Given the description of an element on the screen output the (x, y) to click on. 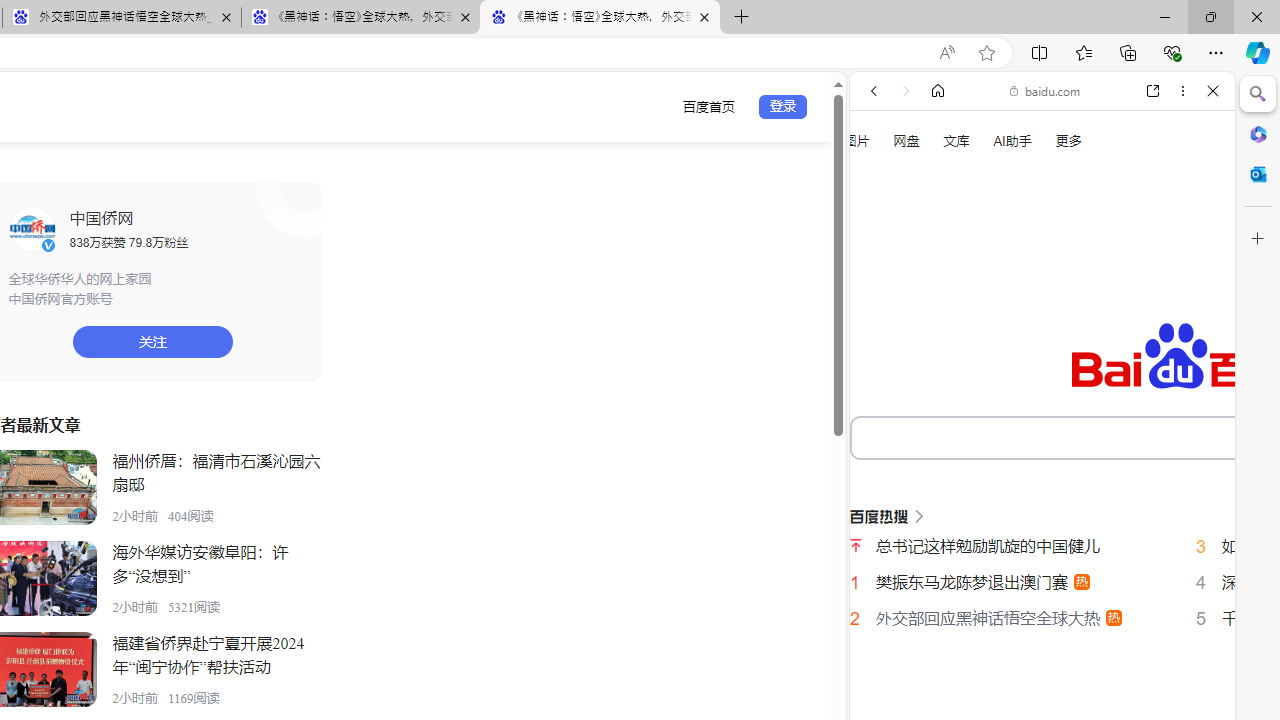
English (US) (1042, 579)
Web scope (882, 180)
